Given the description of an element on the screen output the (x, y) to click on. 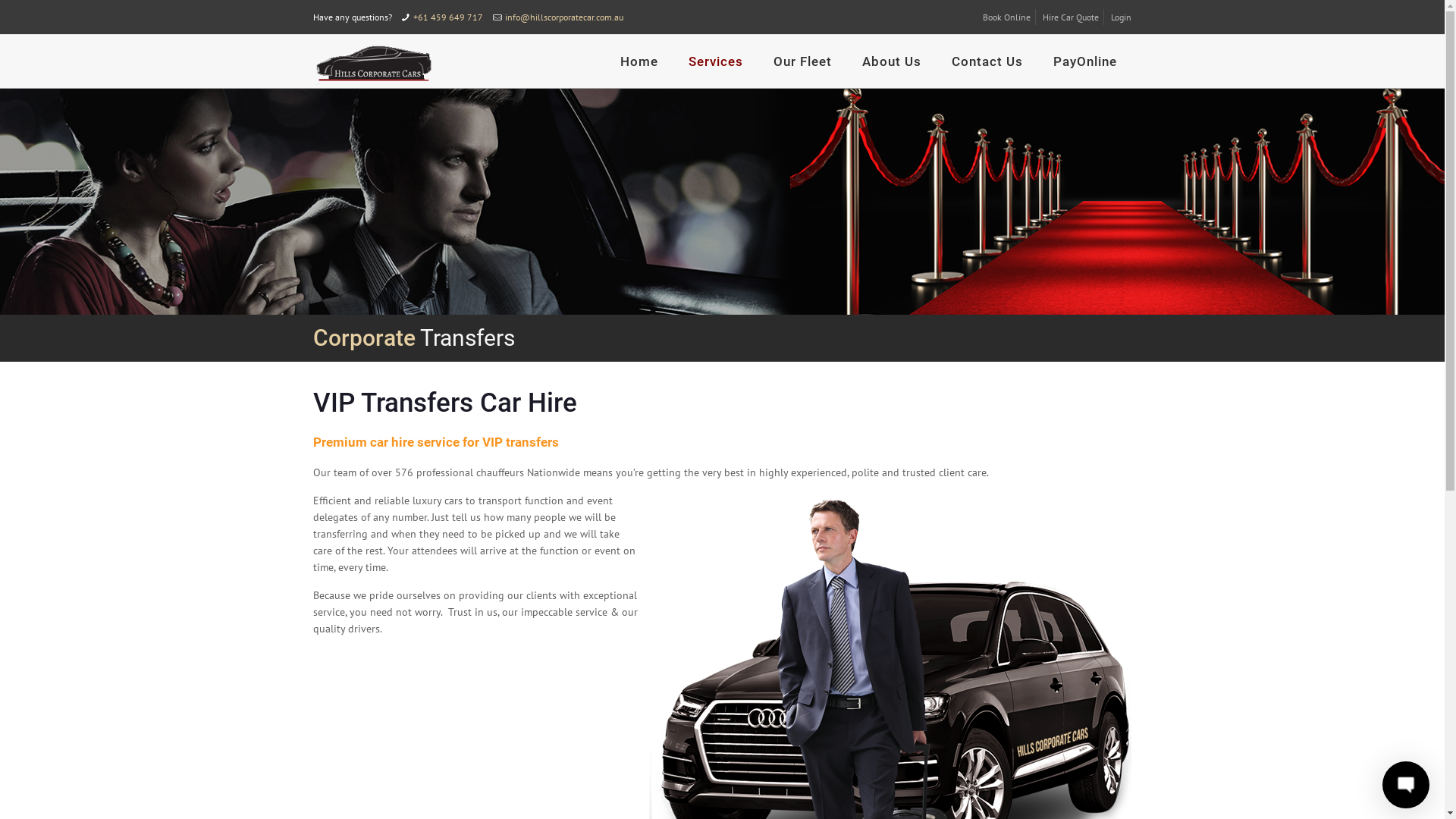
Our Fleet Element type: text (802, 60)
+61 459 649 717 Element type: text (448, 16)
Book Online Element type: text (1006, 16)
Services Element type: text (715, 60)
info@hillscorporatecar.com.au Element type: text (564, 16)
Home Element type: text (639, 60)
Hire Car Quote Element type: text (1070, 16)
Login Element type: text (1120, 16)
Hills Corporate Cars Element type: hover (372, 60)
About Us Element type: text (891, 60)
VIP-Banner Element type: hover (722, 201)
Contact Us Element type: text (987, 60)
PayOnline Element type: text (1085, 60)
